Given the description of an element on the screen output the (x, y) to click on. 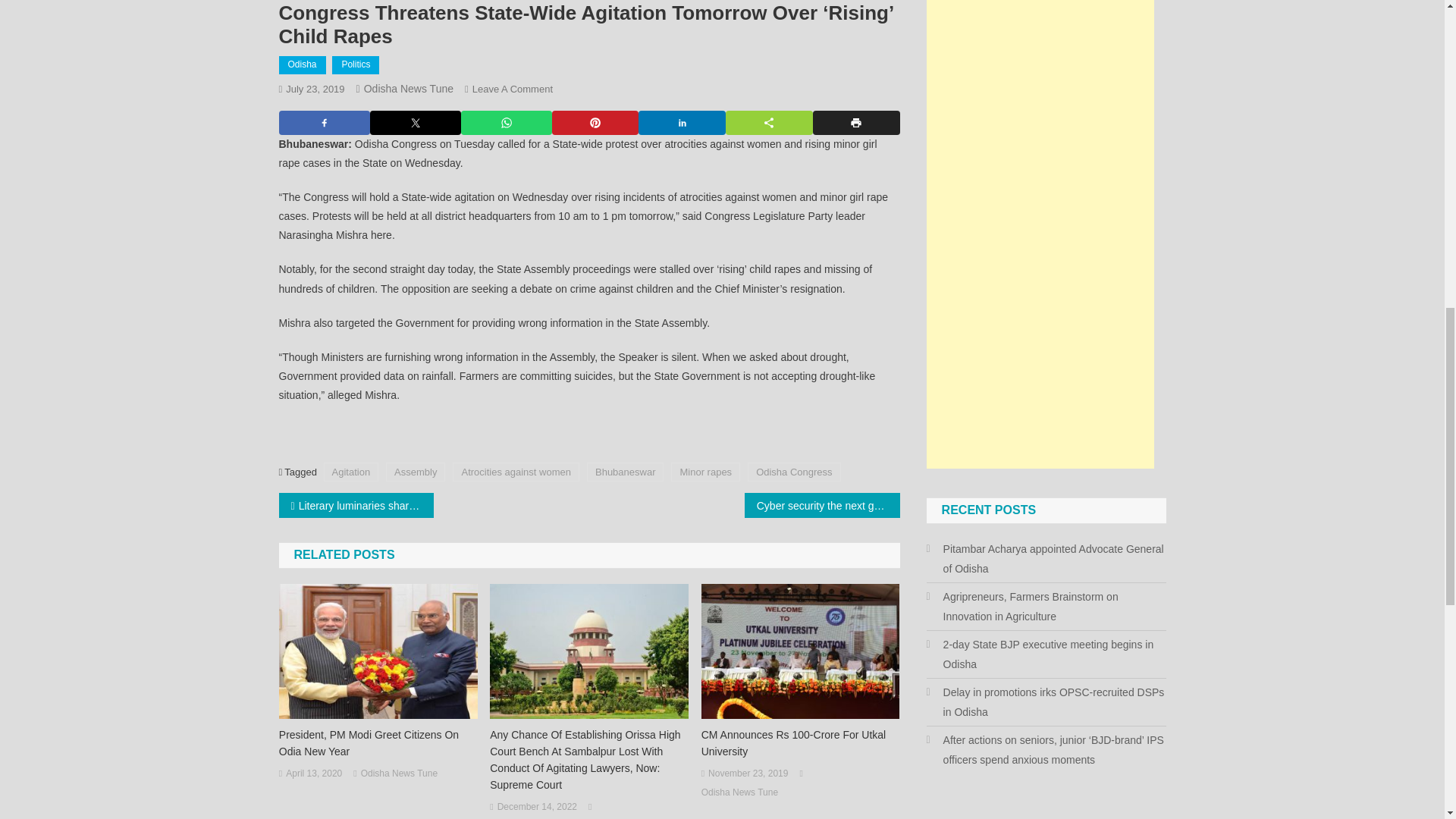
April 13, 2020 (313, 773)
President, PM Modi Greet Citizens On Odia New Year (378, 743)
Odisha (302, 65)
December 14, 2022 (536, 807)
Atrocities against women (515, 471)
Odisha News Tune (399, 773)
July 23, 2019 (314, 89)
Politics (354, 65)
Bhubaneswar (624, 471)
Minor rapes (705, 471)
Cyber security the next gen IT hot cake for students: Expert (821, 505)
Assembly (415, 471)
Odisha News Tune (408, 88)
